Given the description of an element on the screen output the (x, y) to click on. 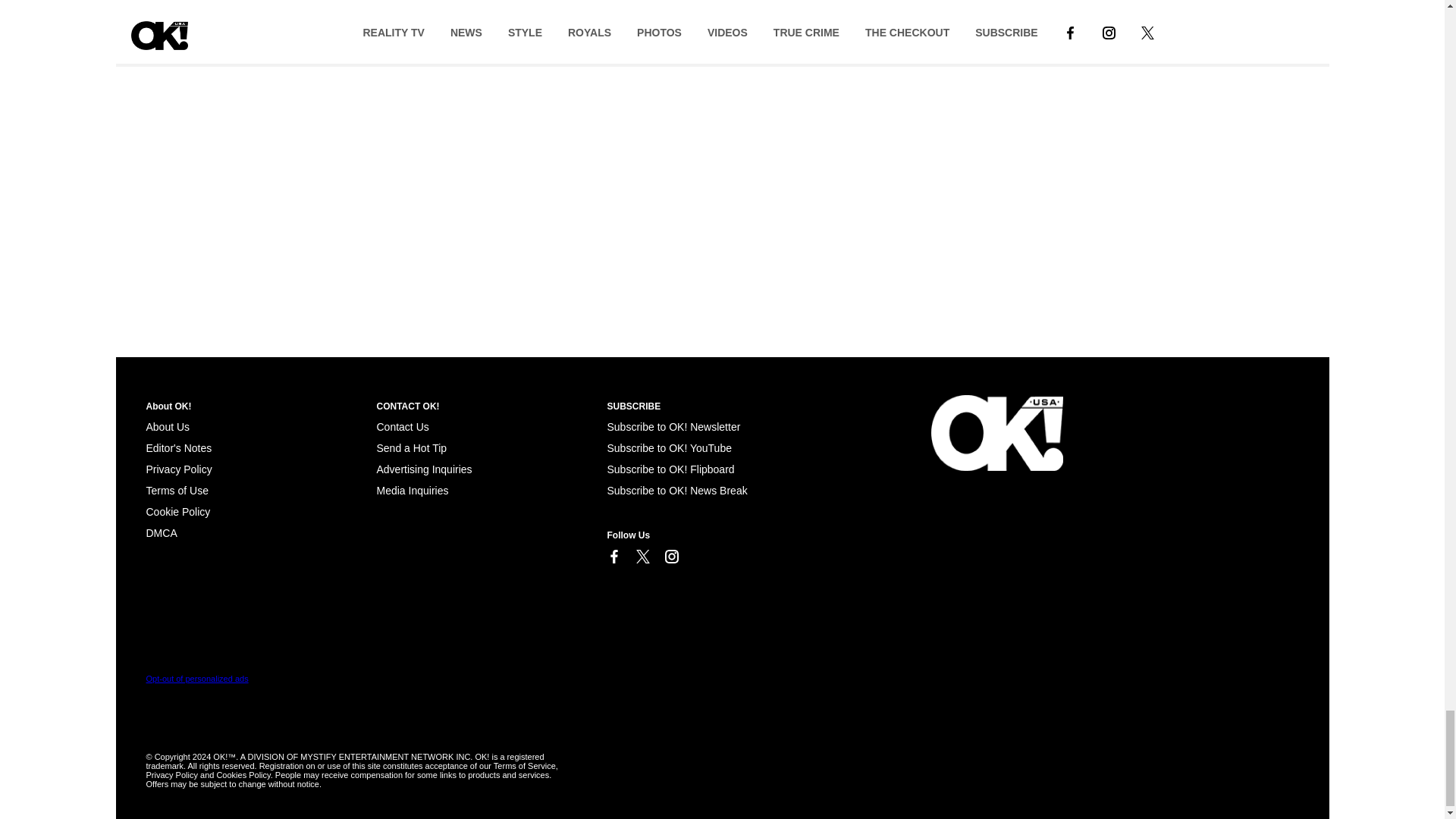
Send a Hot Tip (410, 448)
Contact Us (401, 426)
About Us (167, 426)
Link to Facebook (613, 556)
Privacy Policy (178, 469)
Advertising Inquiries (423, 469)
Link to Instagram (670, 556)
Terms of Use (176, 490)
Media Inquiries (411, 490)
Link to X (641, 556)
Editor's Notes (178, 448)
Cookie Policy (160, 532)
Cookie Policy (177, 511)
